Given the description of an element on the screen output the (x, y) to click on. 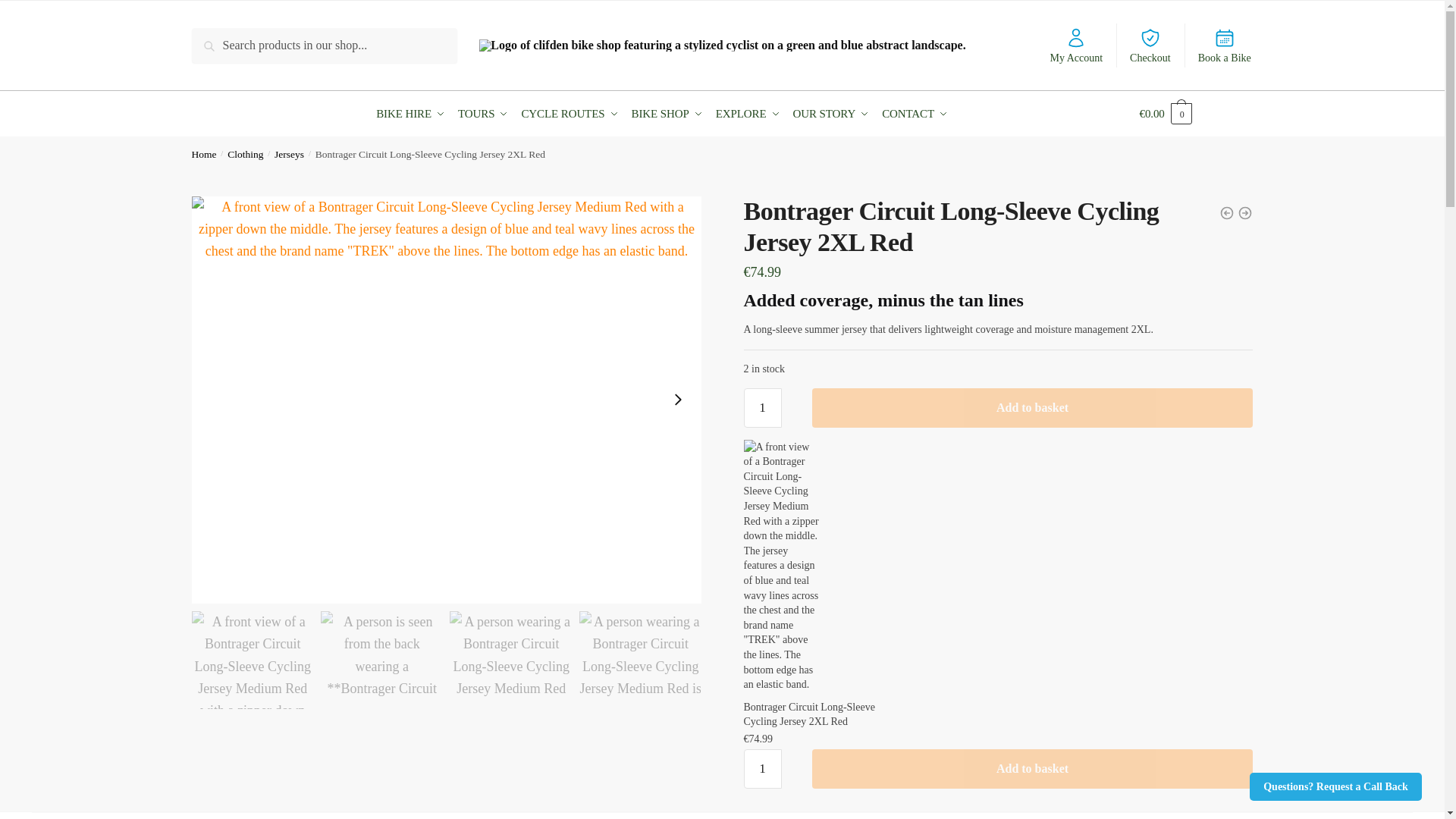
View your shopping cart (1195, 113)
My Account (1076, 45)
1 (761, 768)
CYCLE ROUTES (569, 113)
TOURS (483, 113)
BIKE HIRE (413, 113)
Search (211, 38)
1 (761, 407)
Screenshot-2023-10-03-112527 (252, 659)
BIKE SHOP (666, 113)
